Given the description of an element on the screen output the (x, y) to click on. 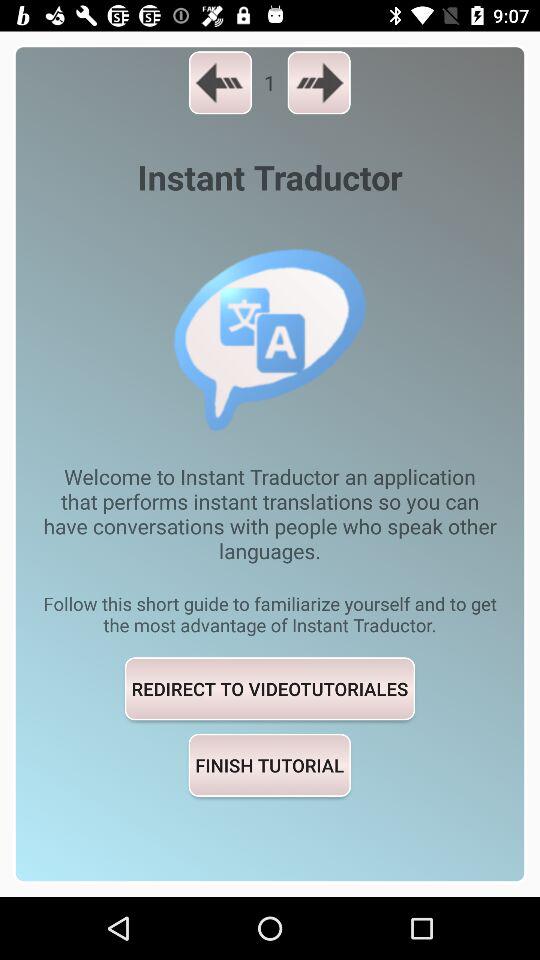
click the icon above the instant traductor item (220, 82)
